Given the description of an element on the screen output the (x, y) to click on. 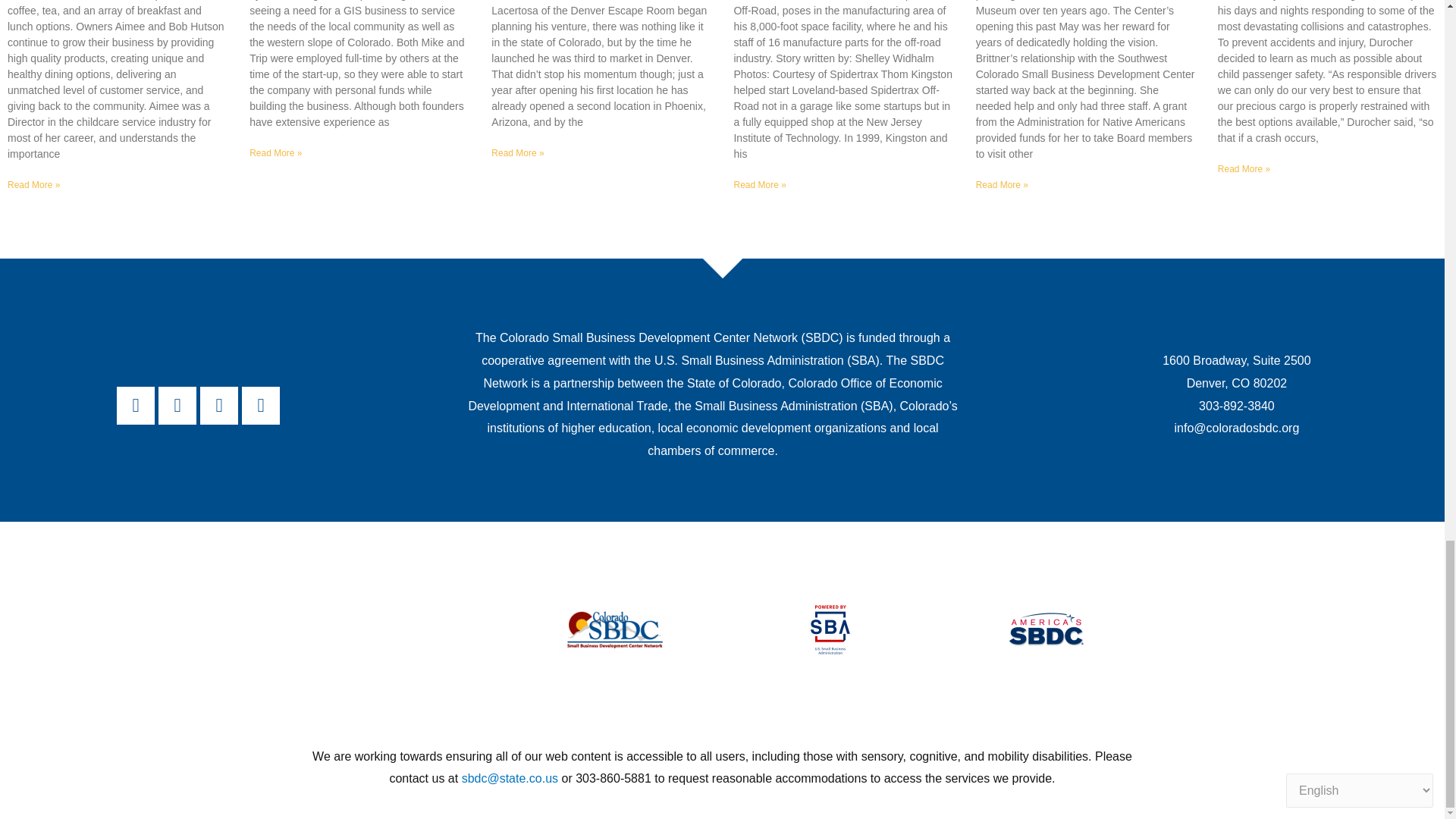
asbdc logo (1046, 629)
Colorado-SBDC.png (614, 629)
sba-web-2 (829, 629)
